Given the description of an element on the screen output the (x, y) to click on. 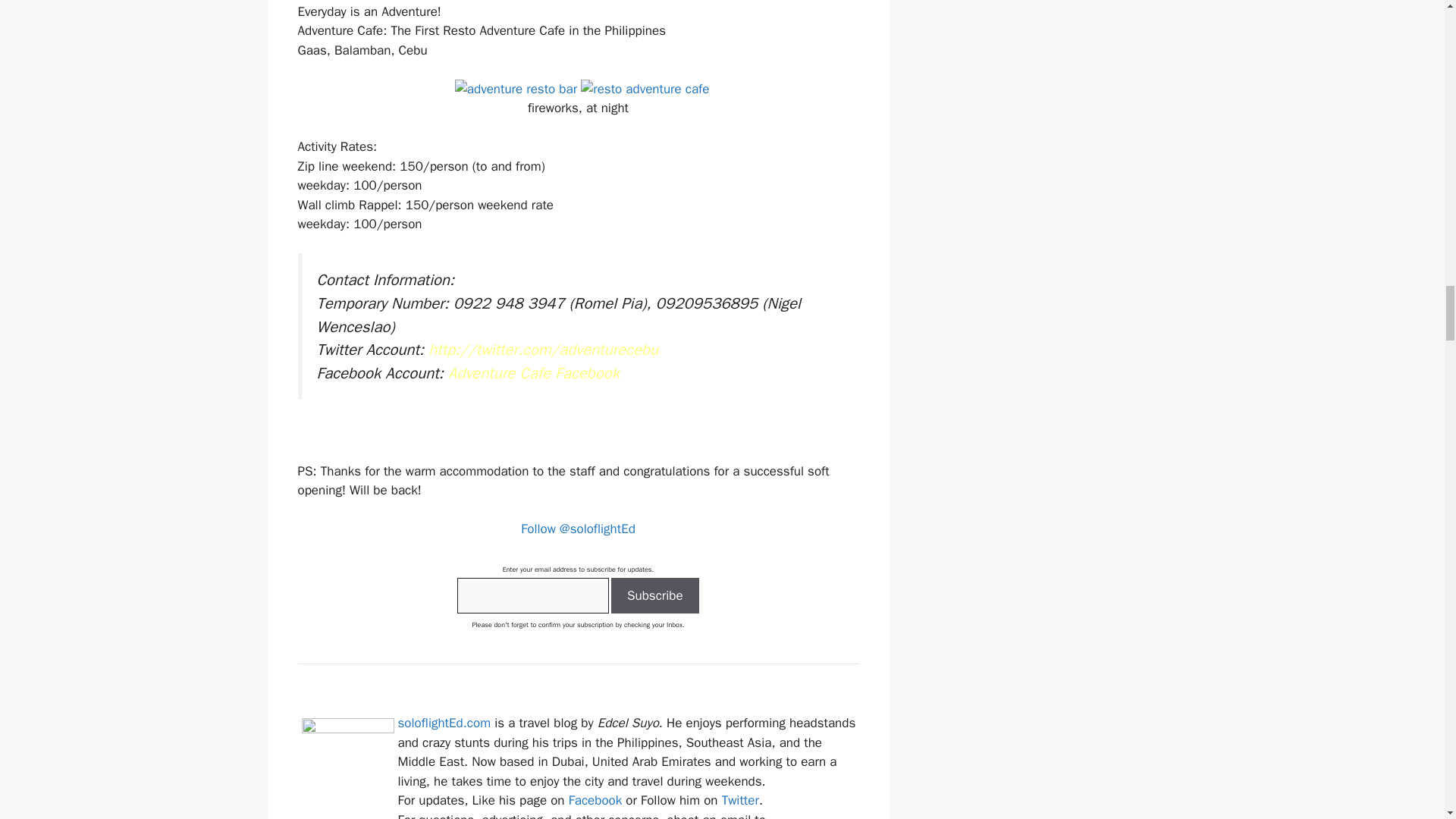
Subscribe (654, 596)
